Given the description of an element on the screen output the (x, y) to click on. 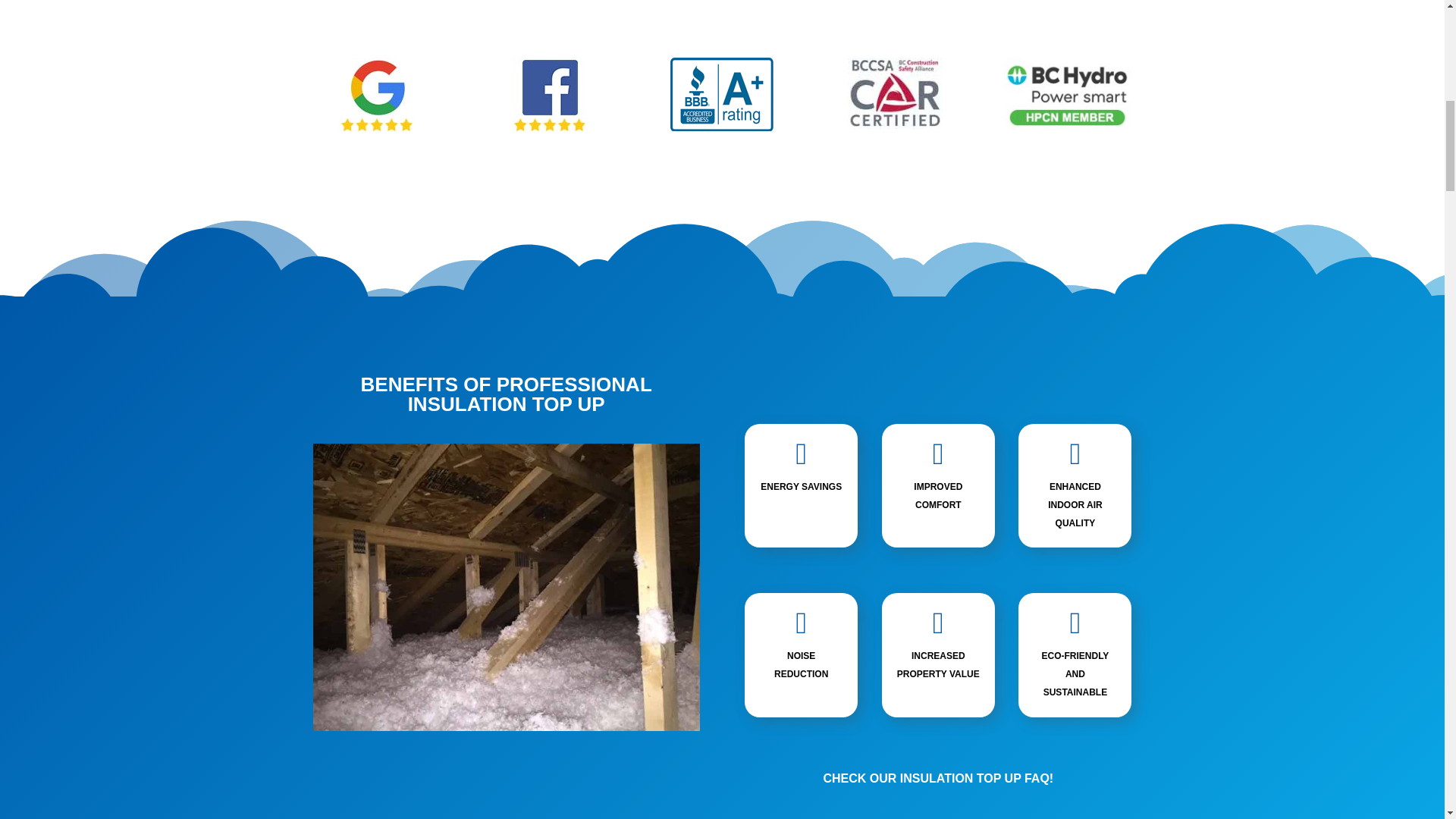
google-5-star-reviews (376, 95)
bc-hydro-hpcn-member (1067, 93)
bccsa-cor-certified (894, 92)
bbb-a-plus-rating (721, 94)
attic-insulation-near-me (505, 587)
facebook-5-star-reviews (550, 95)
